Given the description of an element on the screen output the (x, y) to click on. 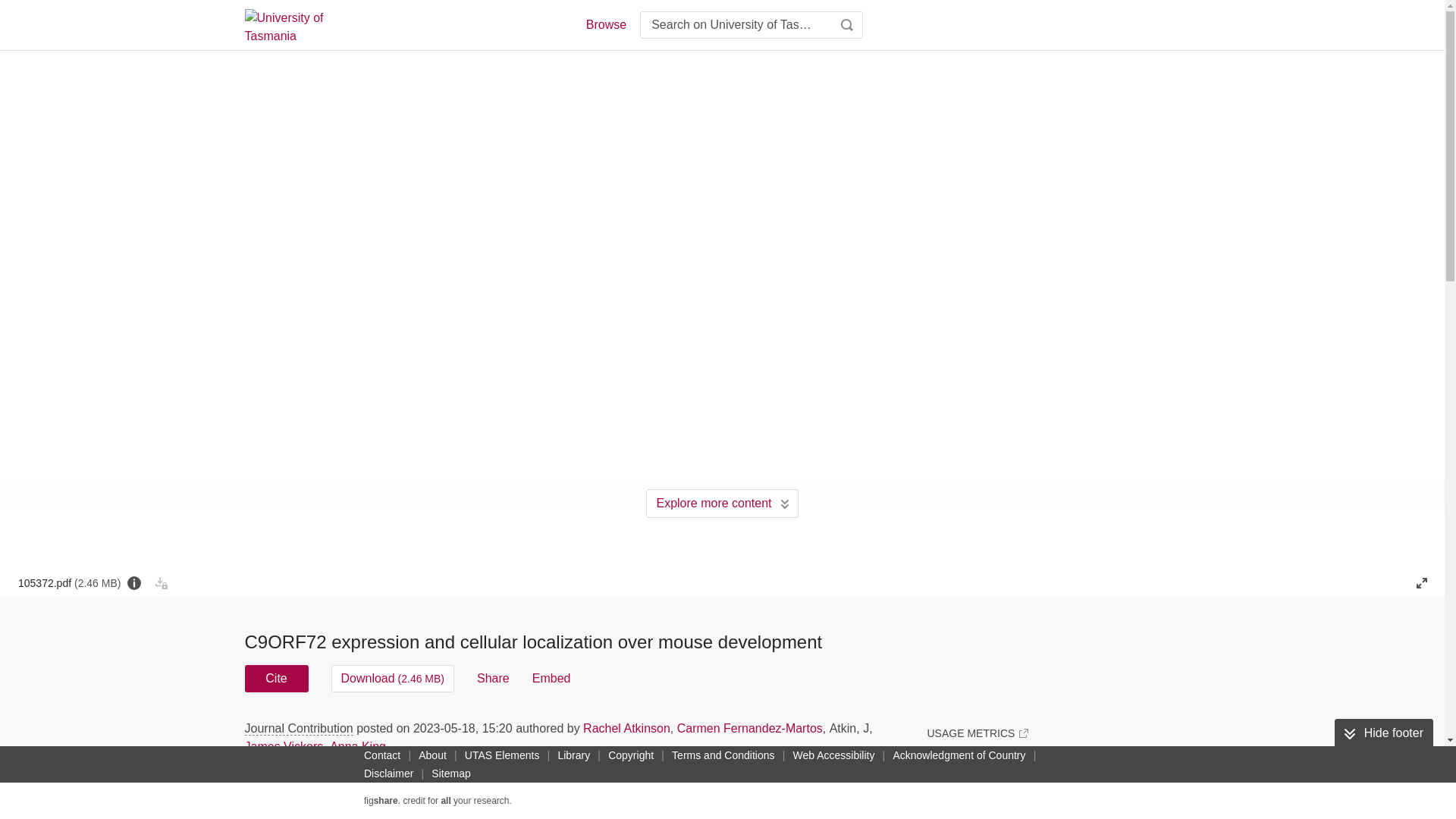
Terms and Conditions (722, 755)
Share (493, 678)
About (432, 755)
Embed (551, 678)
Rachel Atkinson (626, 727)
Hide footer (1383, 733)
USAGE METRICS (976, 732)
UTAS Elements (502, 755)
Copyright (631, 755)
Carmen Fernandez-Martos (749, 727)
Browse (605, 24)
105372.pdf (68, 583)
Cite (275, 678)
Library (573, 755)
Web Accessibility (834, 755)
